Given the description of an element on the screen output the (x, y) to click on. 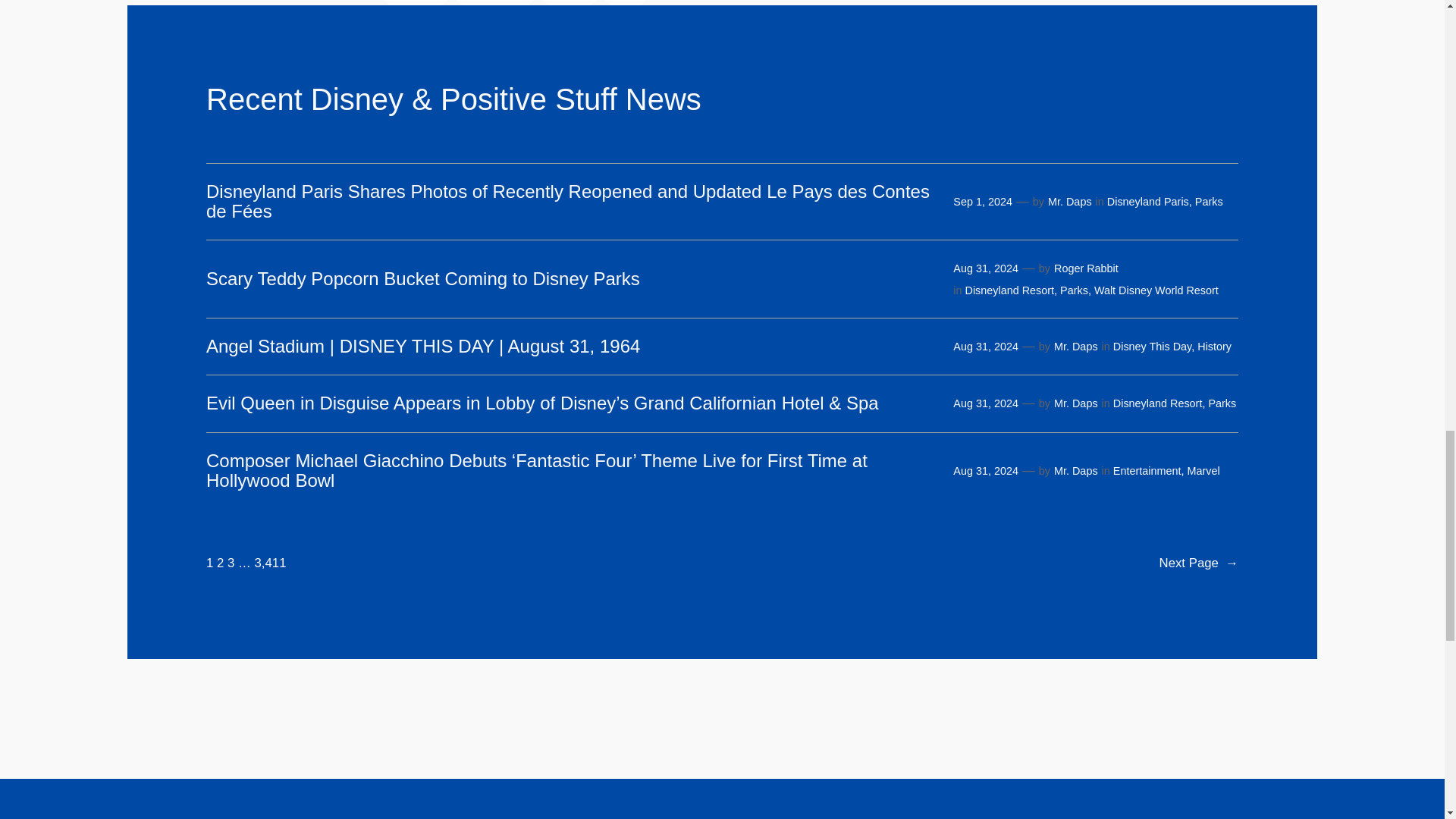
Story (625, 2)
Orchestra (414, 2)
Processional (494, 2)
Soloists (569, 2)
